Given the description of an element on the screen output the (x, y) to click on. 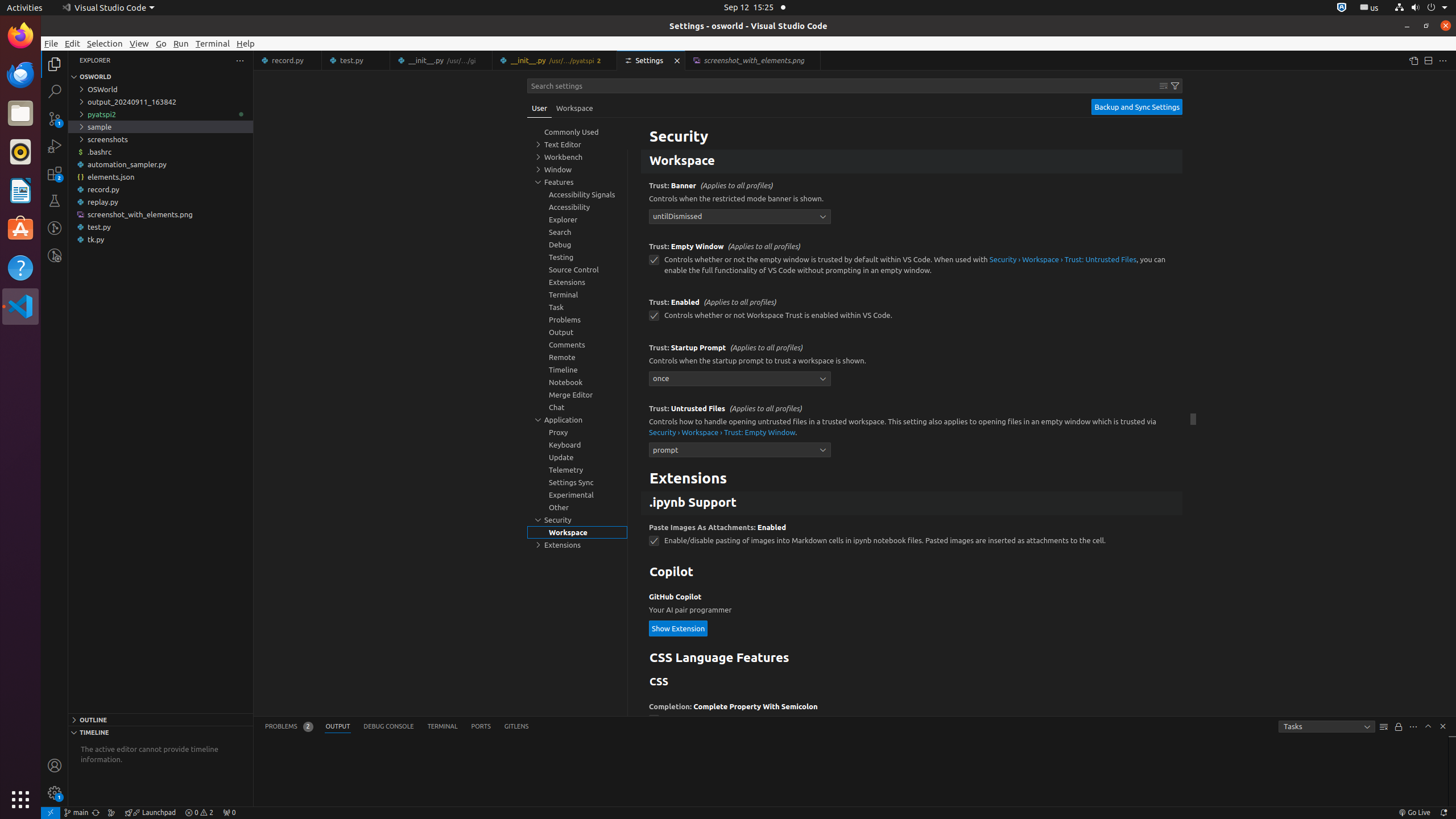
File Element type: push-button (50, 43)
Workspace, group Element type: tree-item (577, 532)
Experimental, group Element type: tree-item (577, 494)
